Given the description of an element on the screen output the (x, y) to click on. 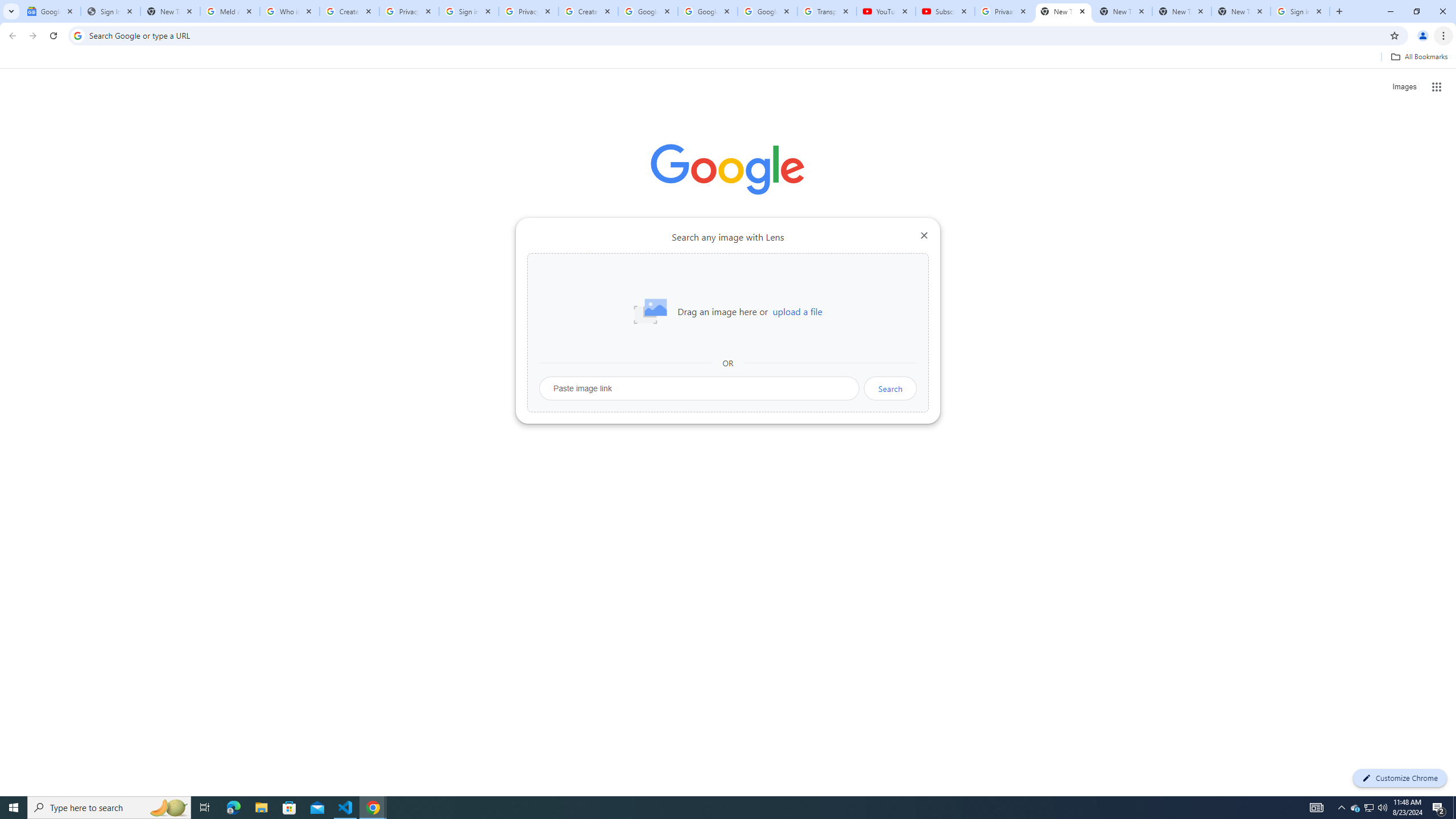
Chrome Web Store (663, 287)
Who is my administrator? - Google Account Help (289, 11)
New Tab (1241, 11)
YouTube (885, 11)
